Given the description of an element on the screen output the (x, y) to click on. 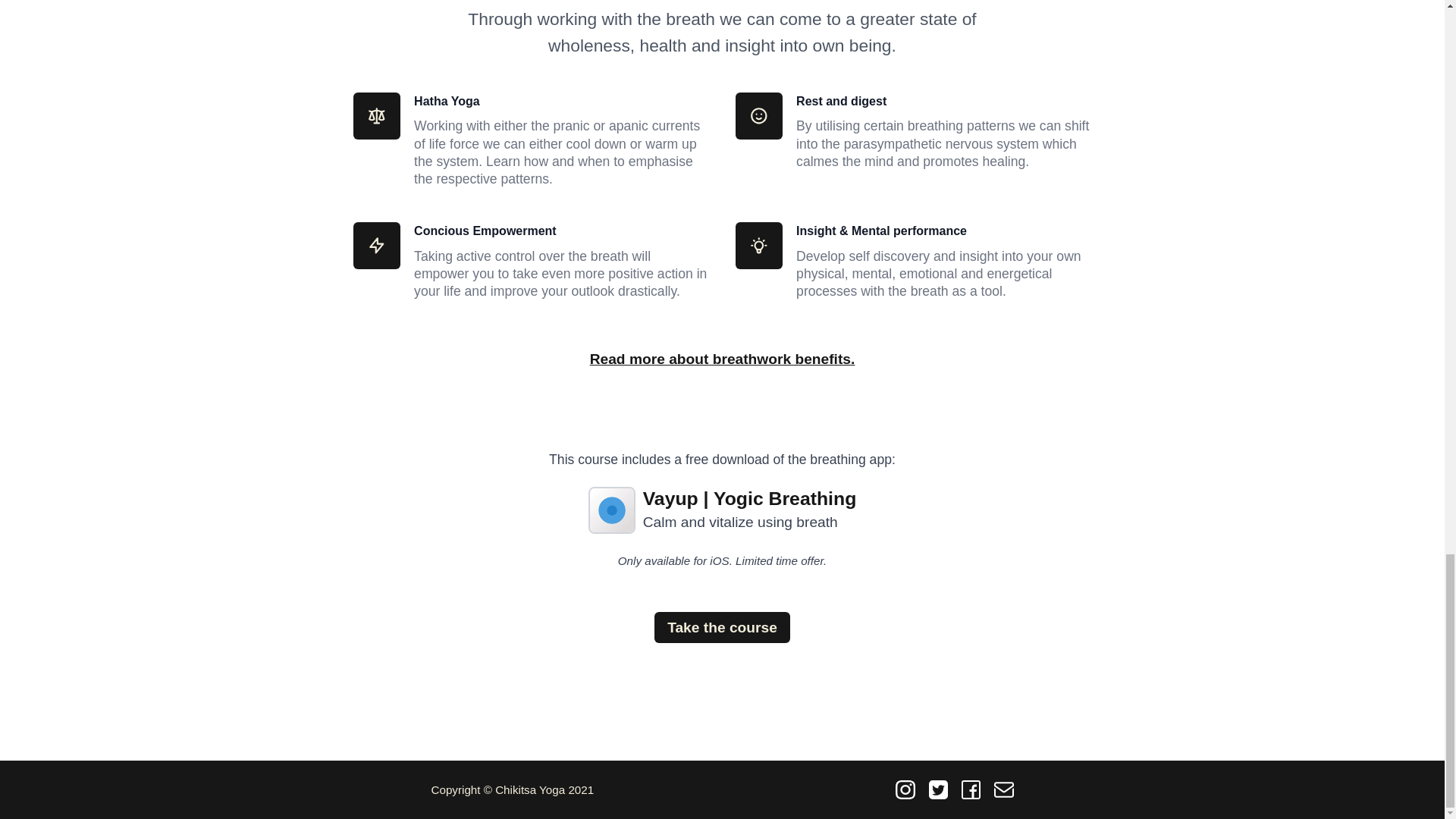
Read more about breathwork benefits. (721, 359)
Take the course (721, 626)
